Given the description of an element on the screen output the (x, y) to click on. 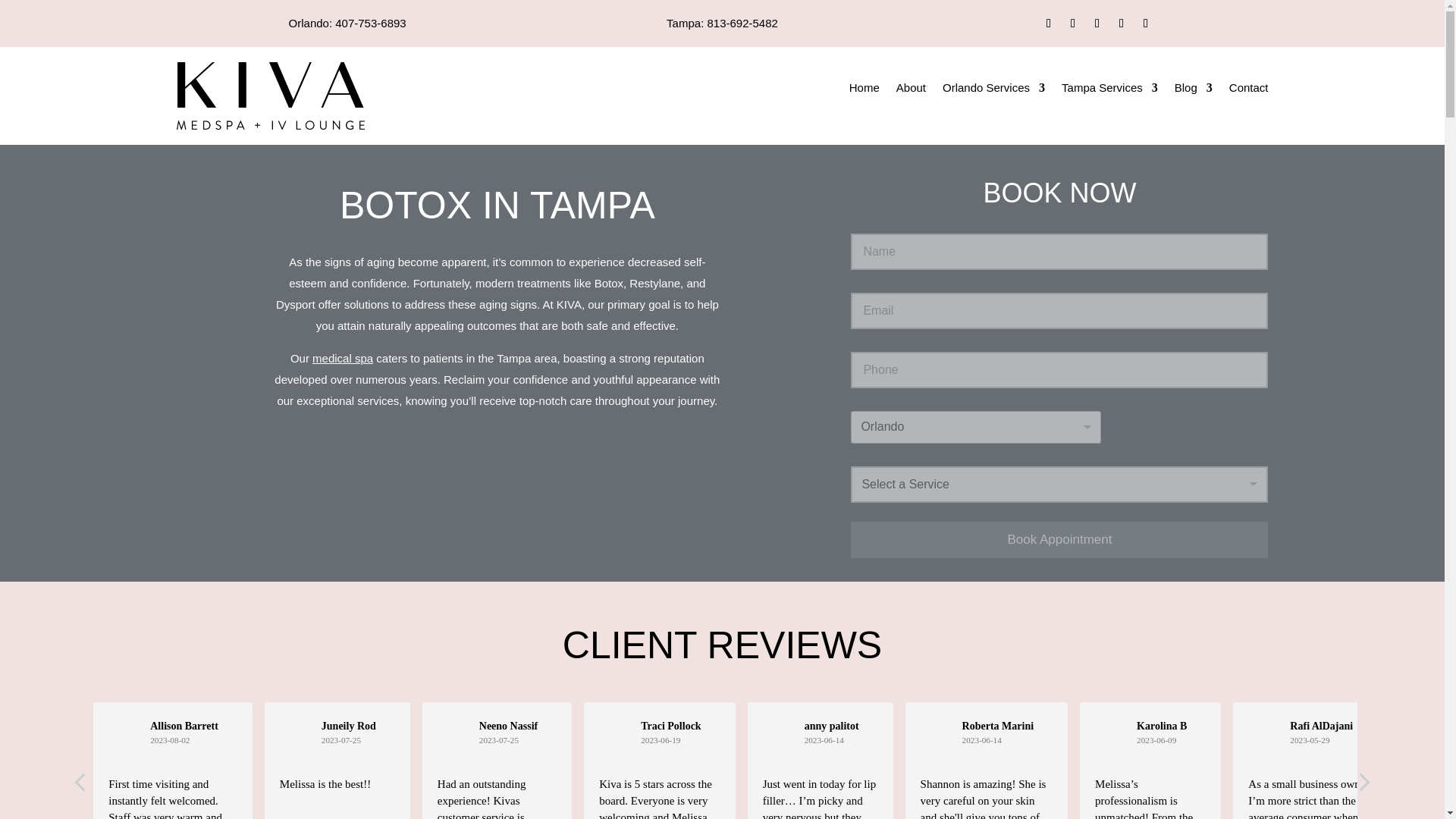
logo-black (270, 95)
Follow on LinkedIn (1145, 23)
Follow on Facebook (1072, 23)
Blog (1193, 90)
Orlando Services (993, 90)
Home (863, 90)
Tampa Services (1109, 90)
Follow on Instagram (1121, 23)
Contact (1248, 90)
About (911, 90)
